Given the description of an element on the screen output the (x, y) to click on. 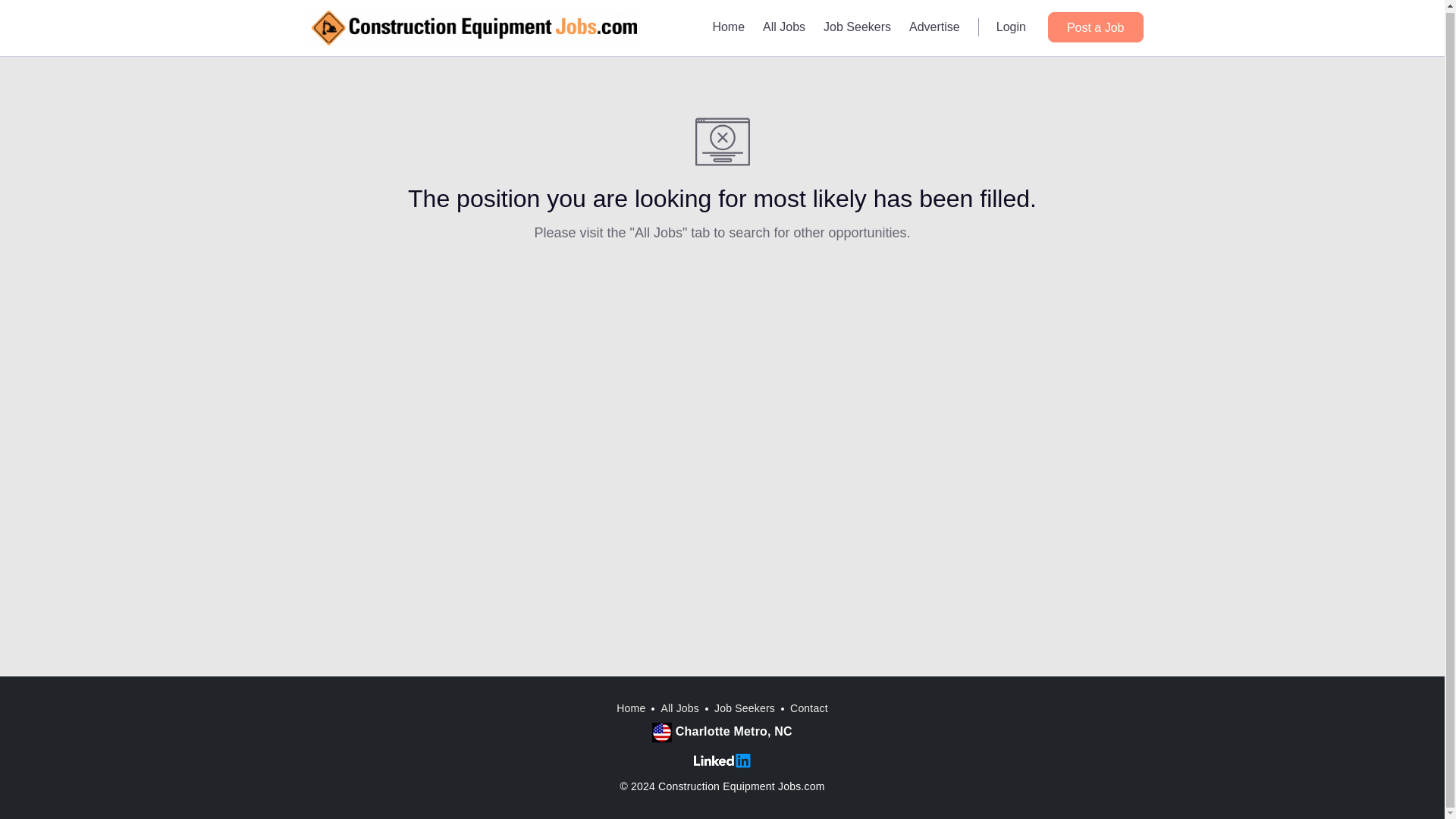
Post a Job (1095, 25)
Login (1011, 25)
Home (630, 708)
Contact (809, 708)
Advertise (934, 25)
Job Seekers (744, 708)
Job Seekers (856, 25)
All Jobs (679, 708)
Home (728, 25)
All Jobs (783, 25)
